Given the description of an element on the screen output the (x, y) to click on. 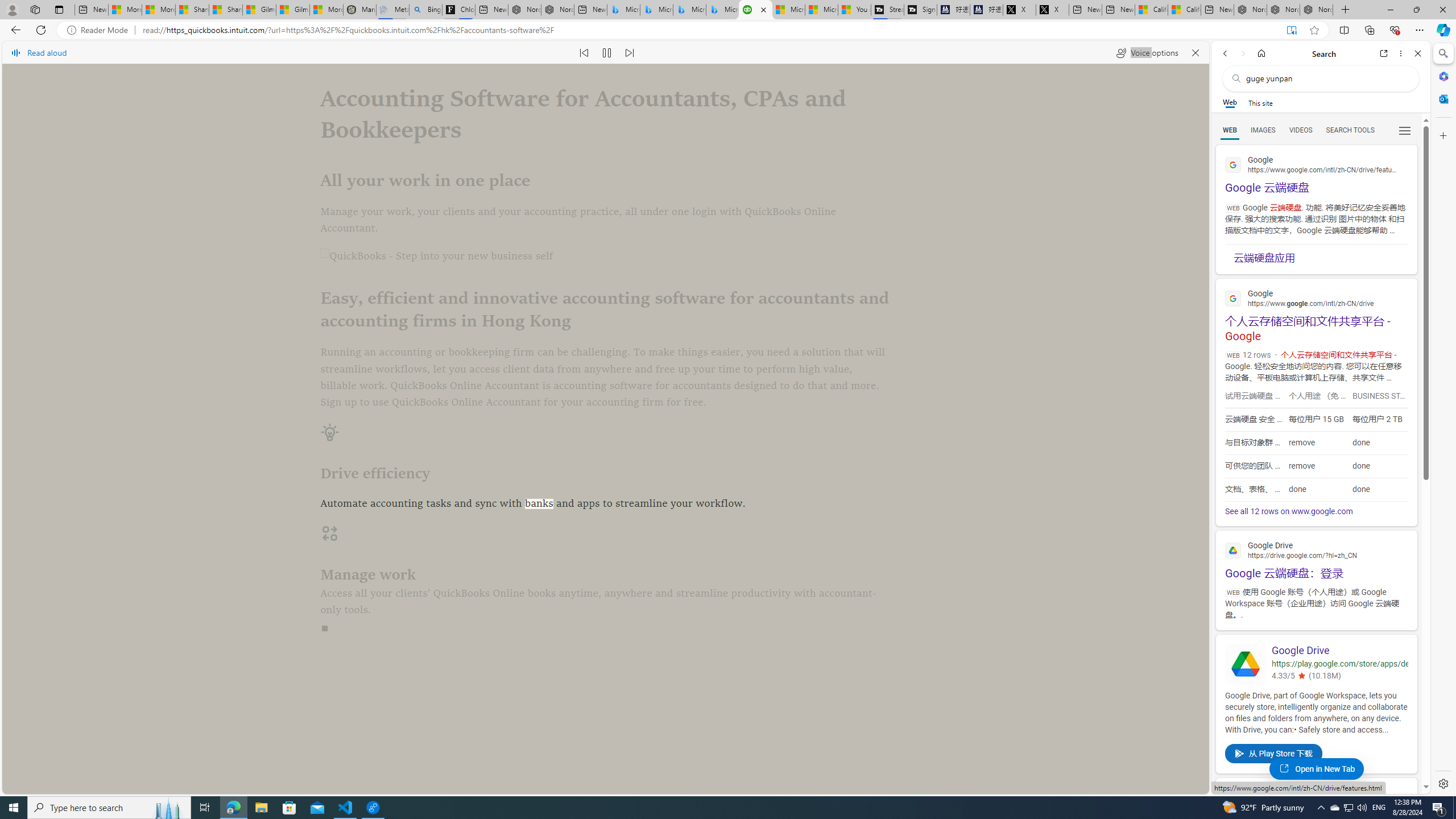
Web scope (1230, 102)
Reader Mode (100, 29)
Open link in new tab (1383, 53)
Bing Real Estate - Home sales and rental listings (425, 9)
Read next paragraph (628, 52)
Google (1315, 796)
